Given the description of an element on the screen output the (x, y) to click on. 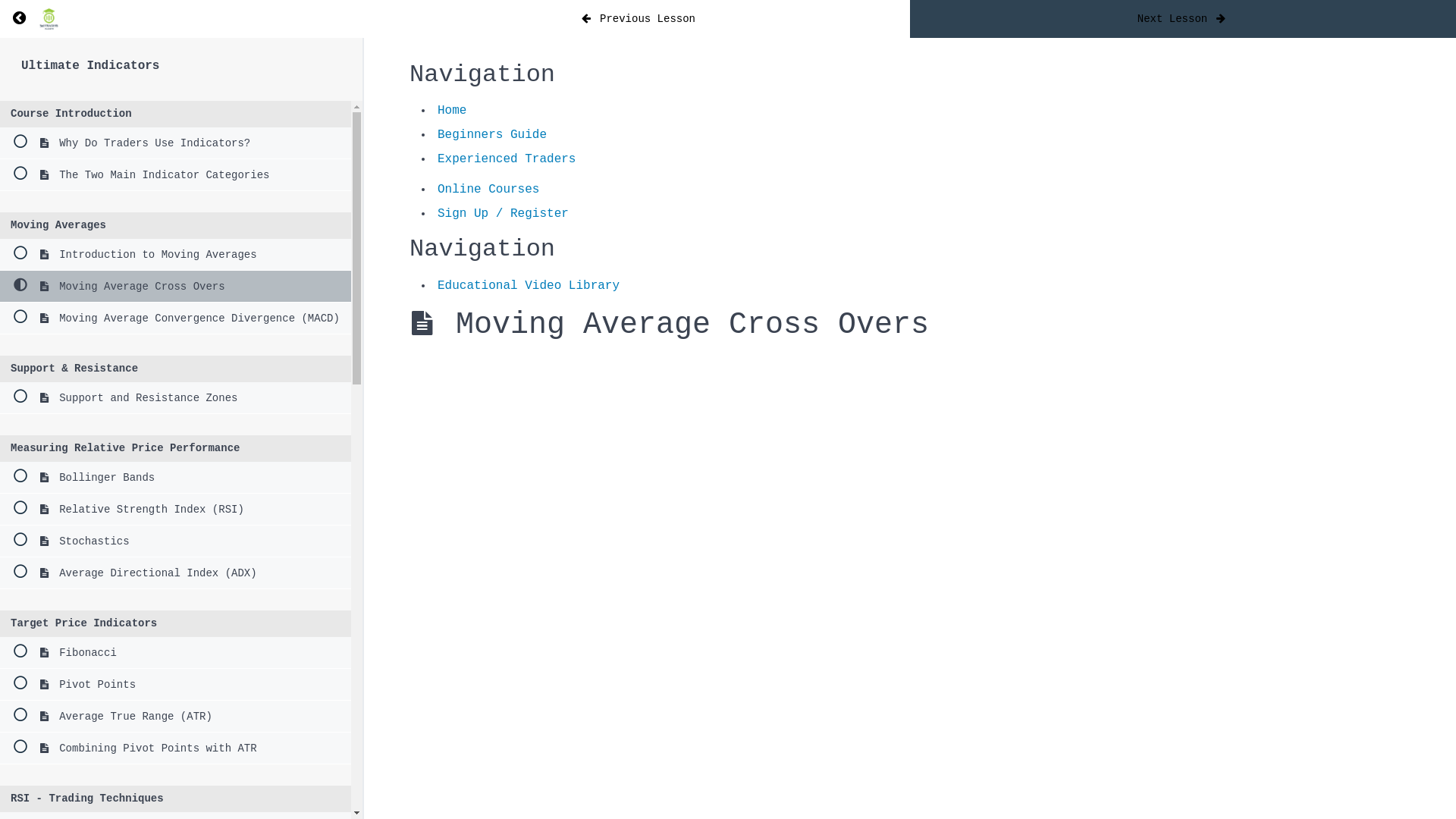
Introduction to Moving Averages Element type: text (175, 254)
Support and Resistance Zones Element type: text (175, 398)
The Two Main Indicator Categories Element type: text (175, 175)
Relative Strength Index (RSI) Element type: text (175, 509)
Why Do Traders Use Indicators? Element type: text (175, 143)
Moving Average Convergence Divergence (MACD) Element type: text (175, 318)
Stochastics Element type: text (175, 541)
Average True Range (ATR) Element type: text (175, 716)
Combining Pivot Points with ATR Element type: text (175, 748)
Home Element type: text (451, 110)
Online Courses Element type: text (488, 189)
Ultimate Indicators Element type: text (90, 65)
Bollinger Bands Element type: text (175, 477)
Previous Lesson Element type: text (637, 18)
Educational Video Library Element type: text (528, 285)
Experienced Traders Element type: text (506, 159)
Return to course: Ultimate Indicators Element type: text (18, 18)
Average Directional Index (ADX) Element type: text (175, 573)
Beginners Guide Element type: text (491, 134)
Sign Up / Register Element type: text (502, 213)
Pivot Points Element type: text (175, 684)
Fibonacci Element type: text (175, 652)
Moving Average Cross Overs Element type: text (175, 286)
